Given the description of an element on the screen output the (x, y) to click on. 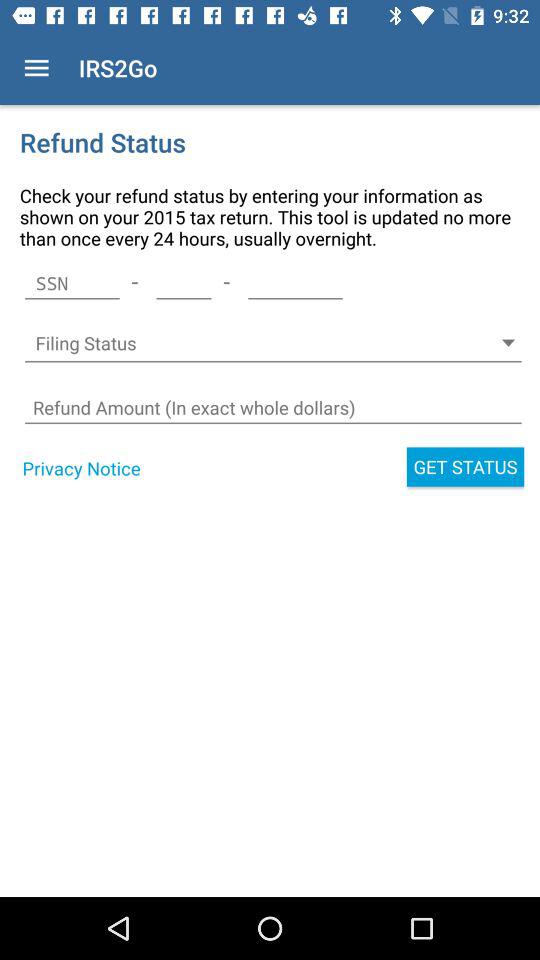
turn off the icon next to the privacy notice icon (465, 466)
